Given the description of an element on the screen output the (x, y) to click on. 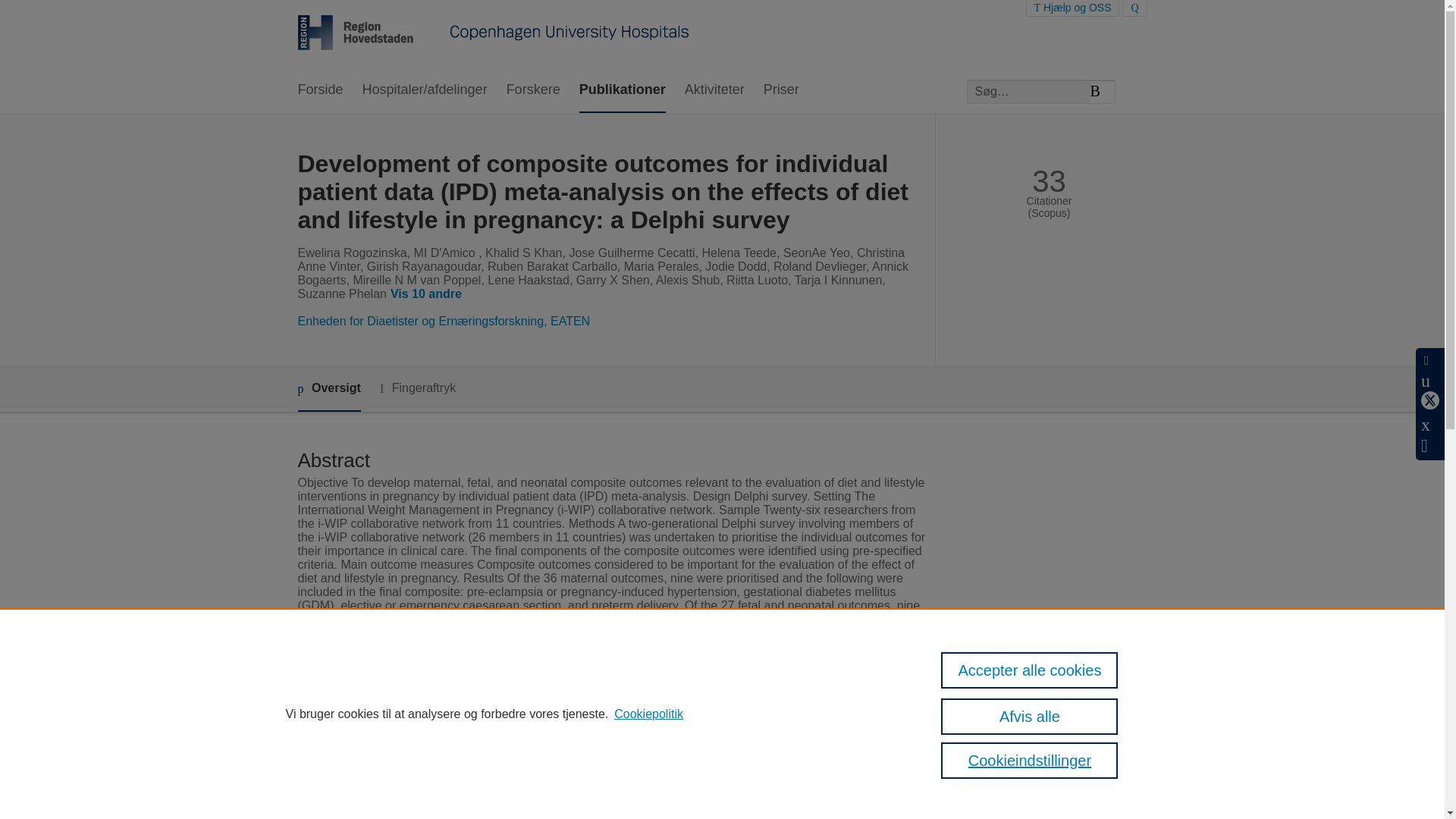
Fingeraftryk (417, 388)
Forskere (533, 90)
Aktiviteter (714, 90)
Vis 10 andre (428, 294)
Oversigt (328, 388)
Forside (319, 90)
Publikationer (622, 90)
BJOG: An International Journal of Obstetrics and Gynaecology (671, 757)
Region Hovedstadens forskningsportal Forside (492, 34)
